Given the description of an element on the screen output the (x, y) to click on. 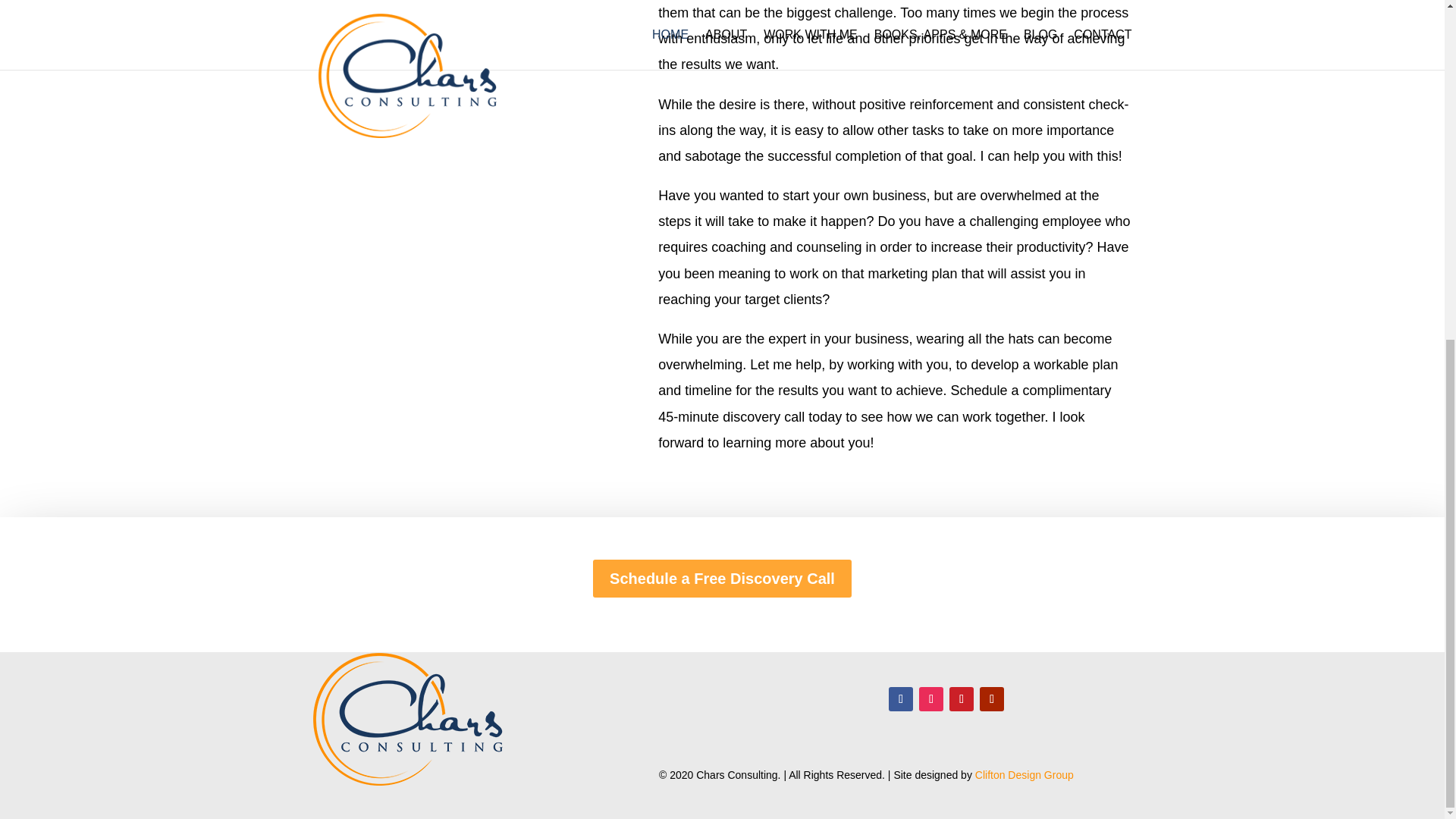
Follow on Facebook (900, 699)
Follow on Pinterest (961, 699)
Schedule a Free Discovery Call (721, 578)
Follow on Instagram (930, 699)
Clifton Design Group (1024, 775)
chars (407, 718)
Follow on Youtube (991, 699)
